Given the description of an element on the screen output the (x, y) to click on. 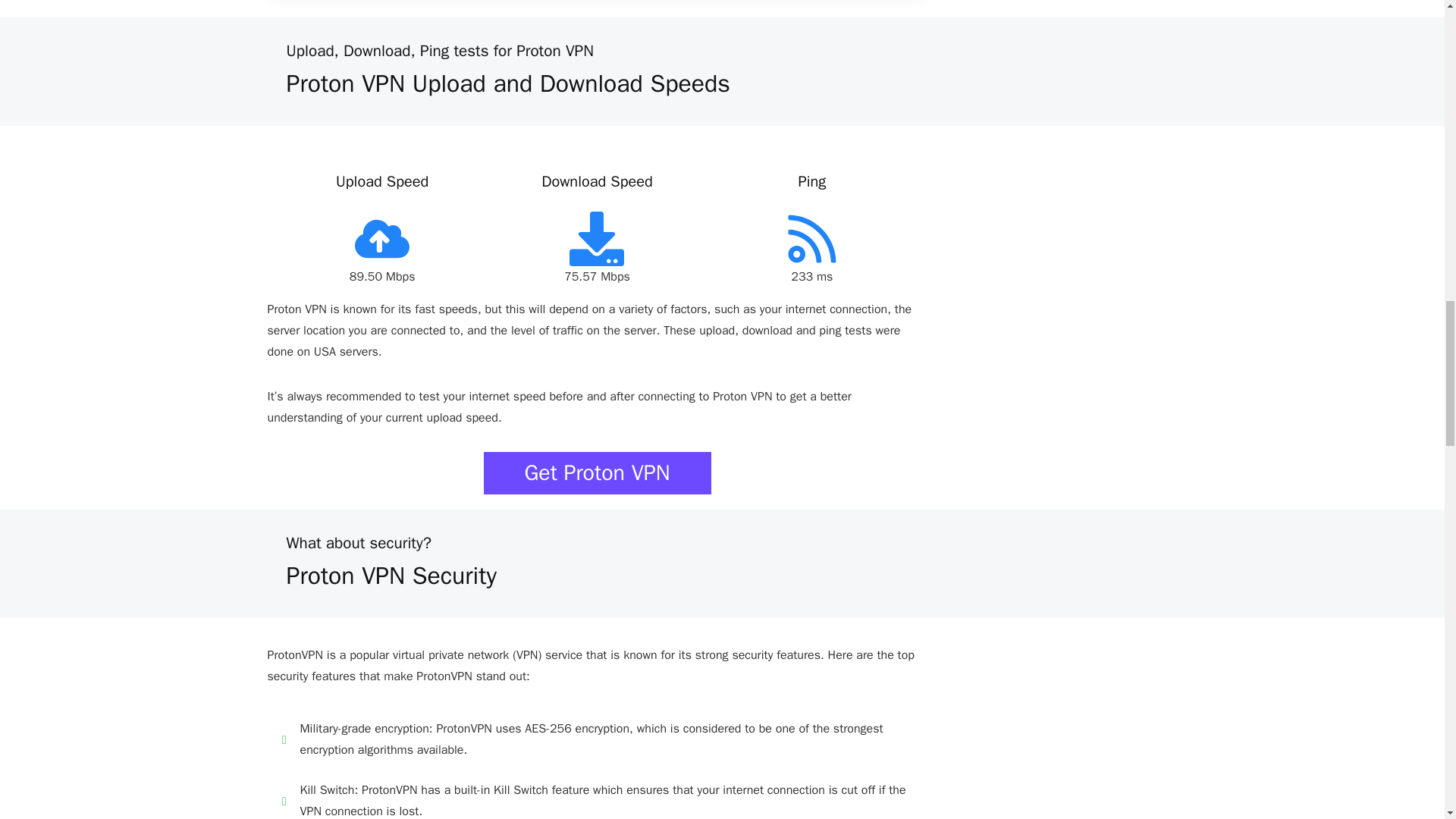
Get Proton VPN (597, 473)
